Given the description of an element on the screen output the (x, y) to click on. 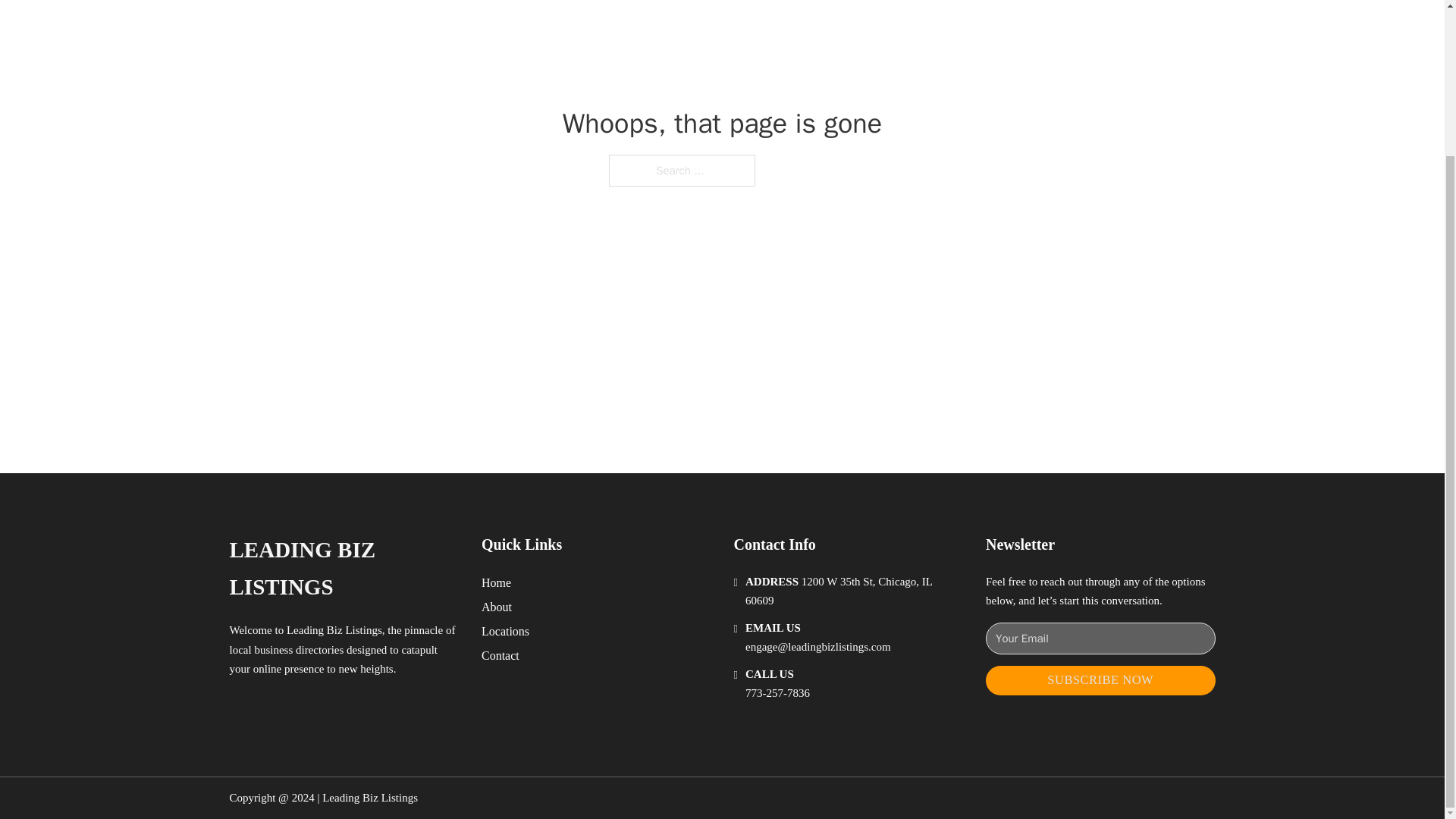
About (496, 607)
SUBSCRIBE NOW (1100, 680)
Contact (500, 655)
Home (496, 582)
773-257-7836 (777, 693)
LEADING BIZ LISTINGS (343, 568)
Locations (505, 630)
